Given the description of an element on the screen output the (x, y) to click on. 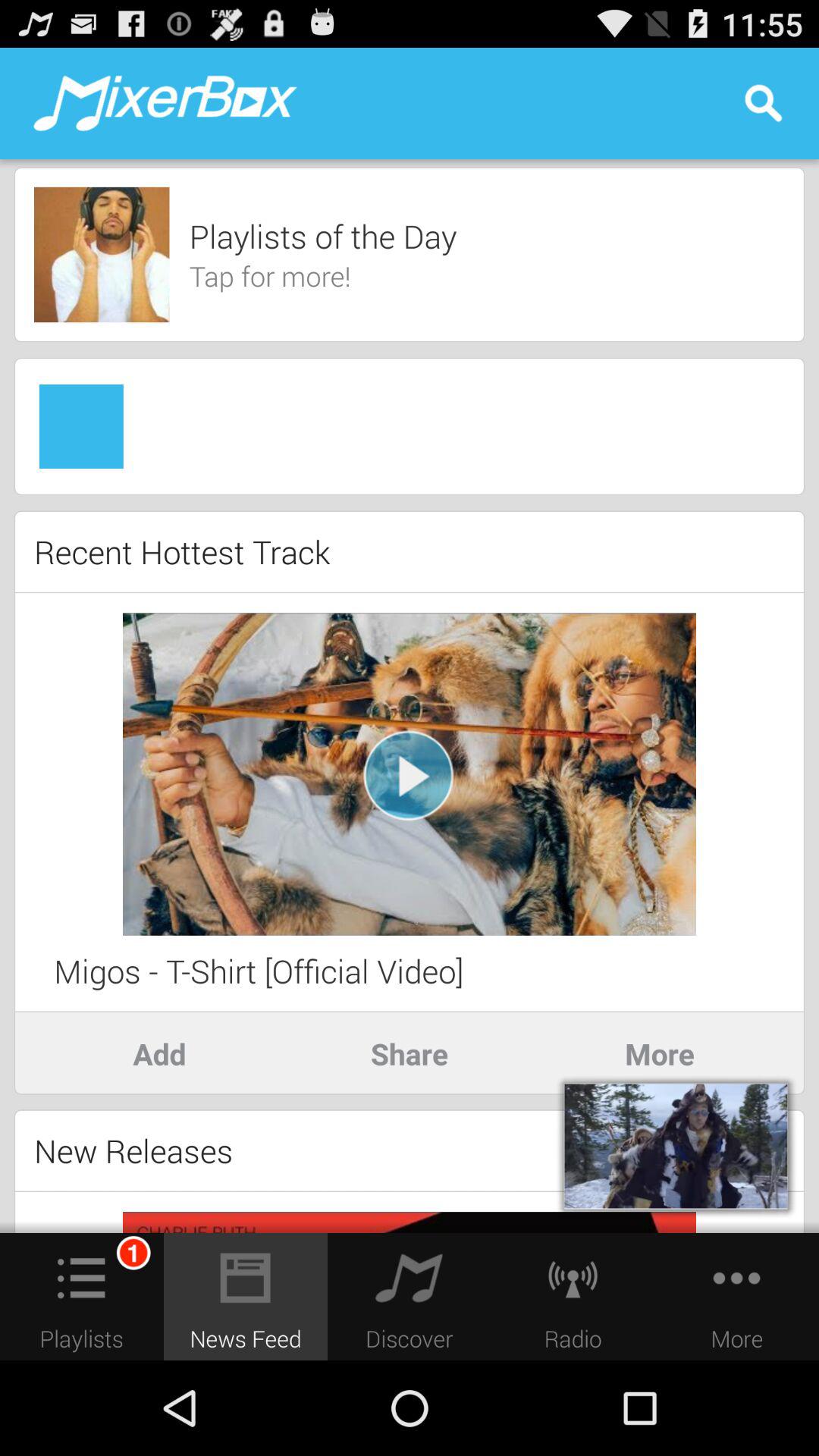
click share icon (409, 1053)
